Given the description of an element on the screen output the (x, y) to click on. 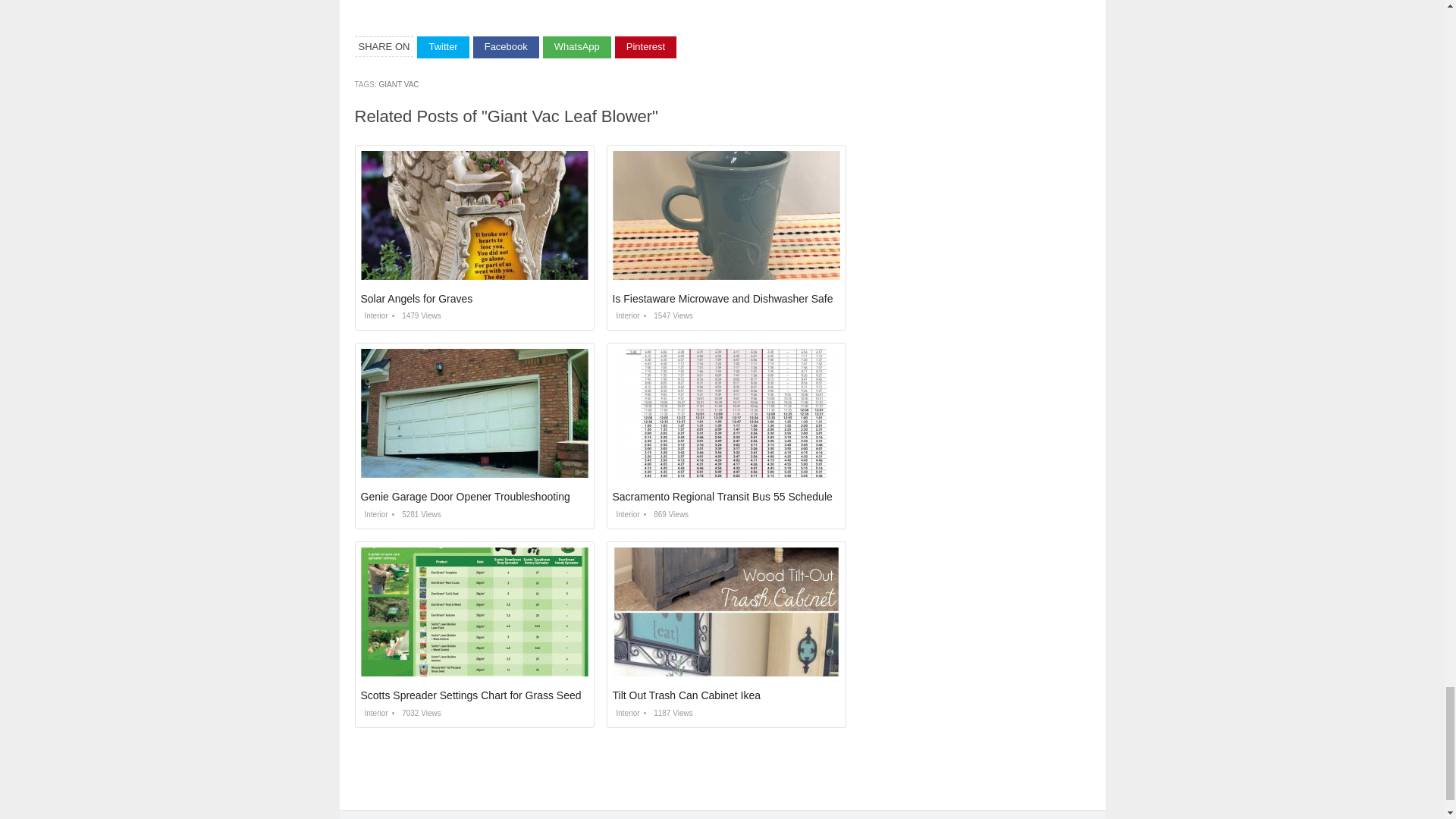
Genie Garage Door Opener Troubleshooting Red Light Blinking (510, 496)
Tilt Out Trash Can Cabinet Ikea (686, 695)
WhatsApp (577, 47)
Interior (374, 514)
Interior (374, 713)
Interior (626, 713)
Solar Angels for Graves (417, 298)
GIANT VAC (398, 84)
Sacramento Regional Transit Bus 55 Schedule (722, 496)
Pinterest (645, 47)
Scotts Spreader Settings Chart for Grass Seed (470, 695)
Interior (374, 316)
Twitter (442, 47)
Is Fiestaware Microwave and Dishwasher Safe (722, 298)
Interior (626, 514)
